Given the description of an element on the screen output the (x, y) to click on. 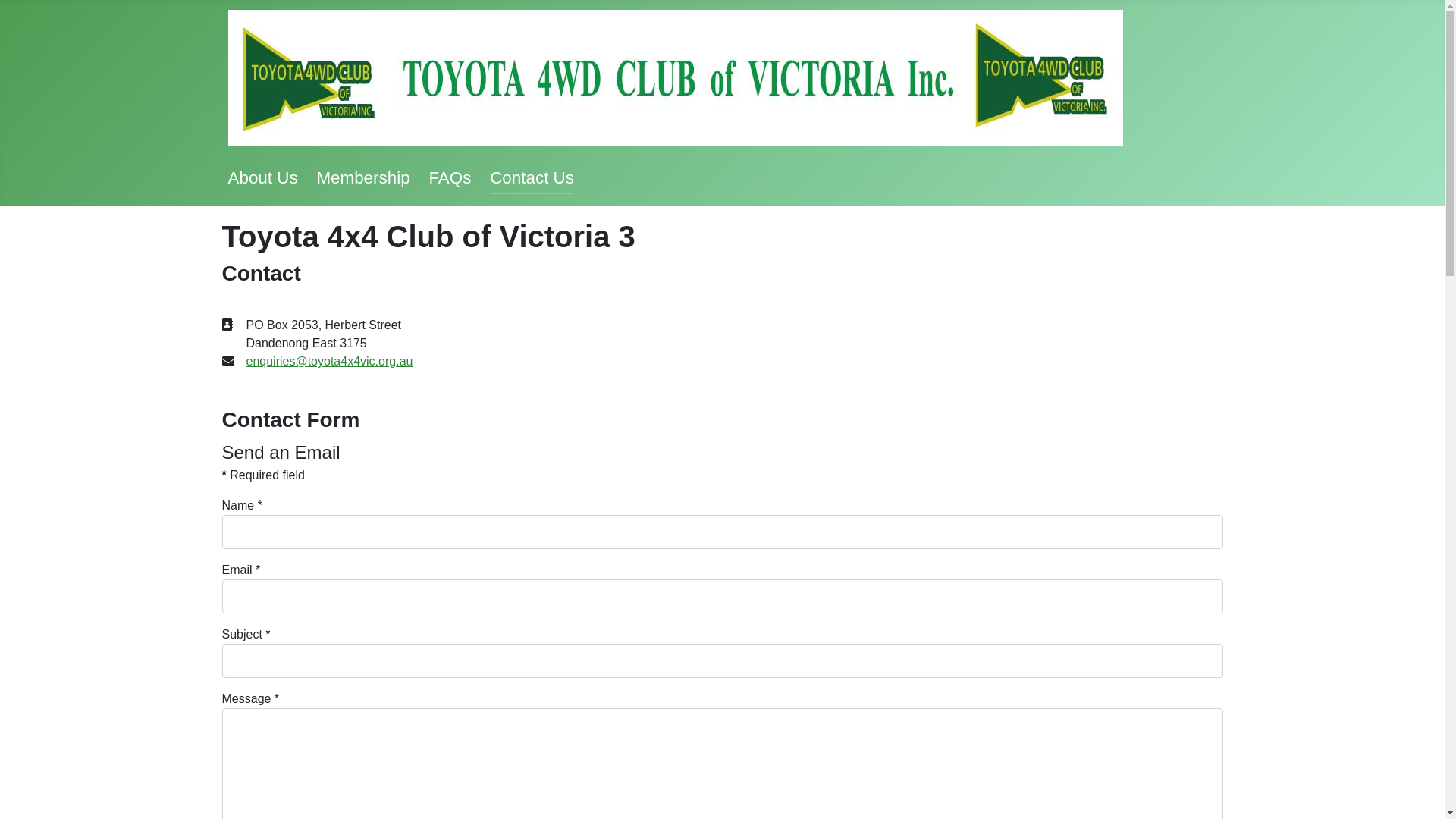
About Us Element type: text (262, 177)
Membership Element type: text (362, 177)
Contact Us Element type: text (531, 177)
enquiries@toyota4x4vic.org.au Element type: text (328, 360)
FAQs Element type: text (449, 177)
